Given the description of an element on the screen output the (x, y) to click on. 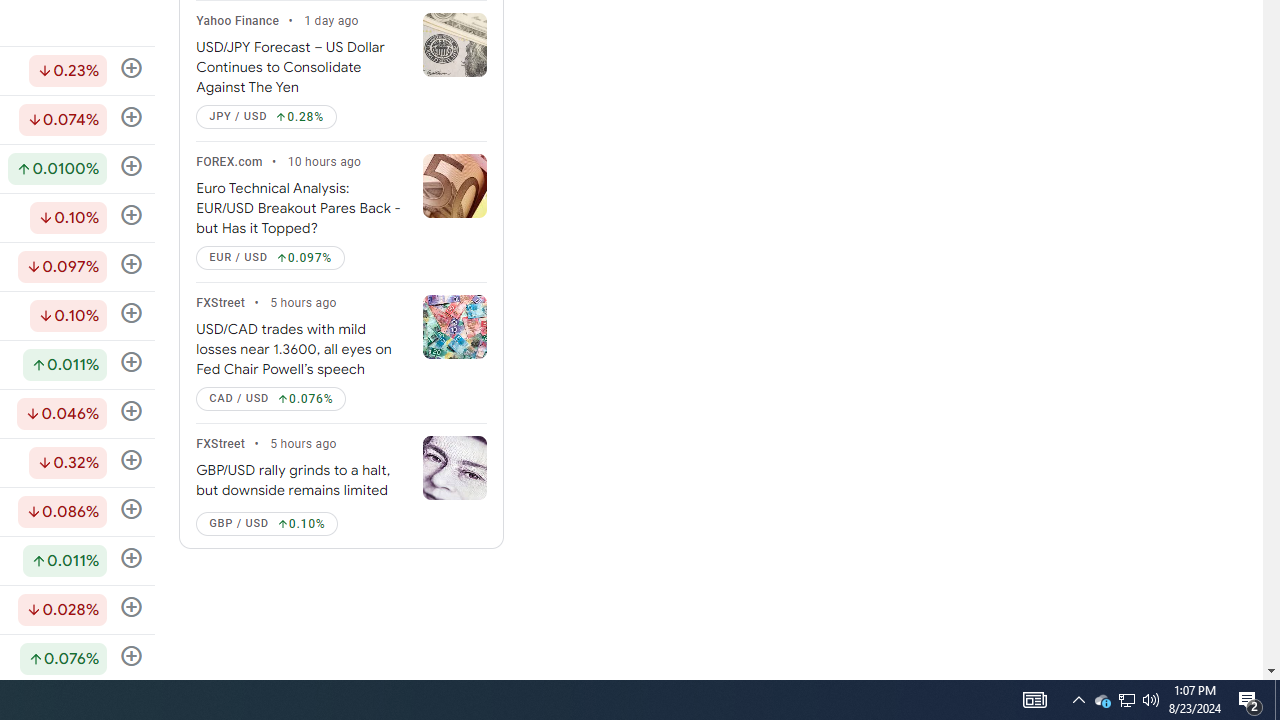
JPY / USD Up by 0.22% (265, 116)
CAD / USD Up by 0.074% (270, 399)
GBP / USD Up by 0.077% (267, 523)
Follow (131, 656)
EUR / USD Up by 0.078% (270, 258)
